Given the description of an element on the screen output the (x, y) to click on. 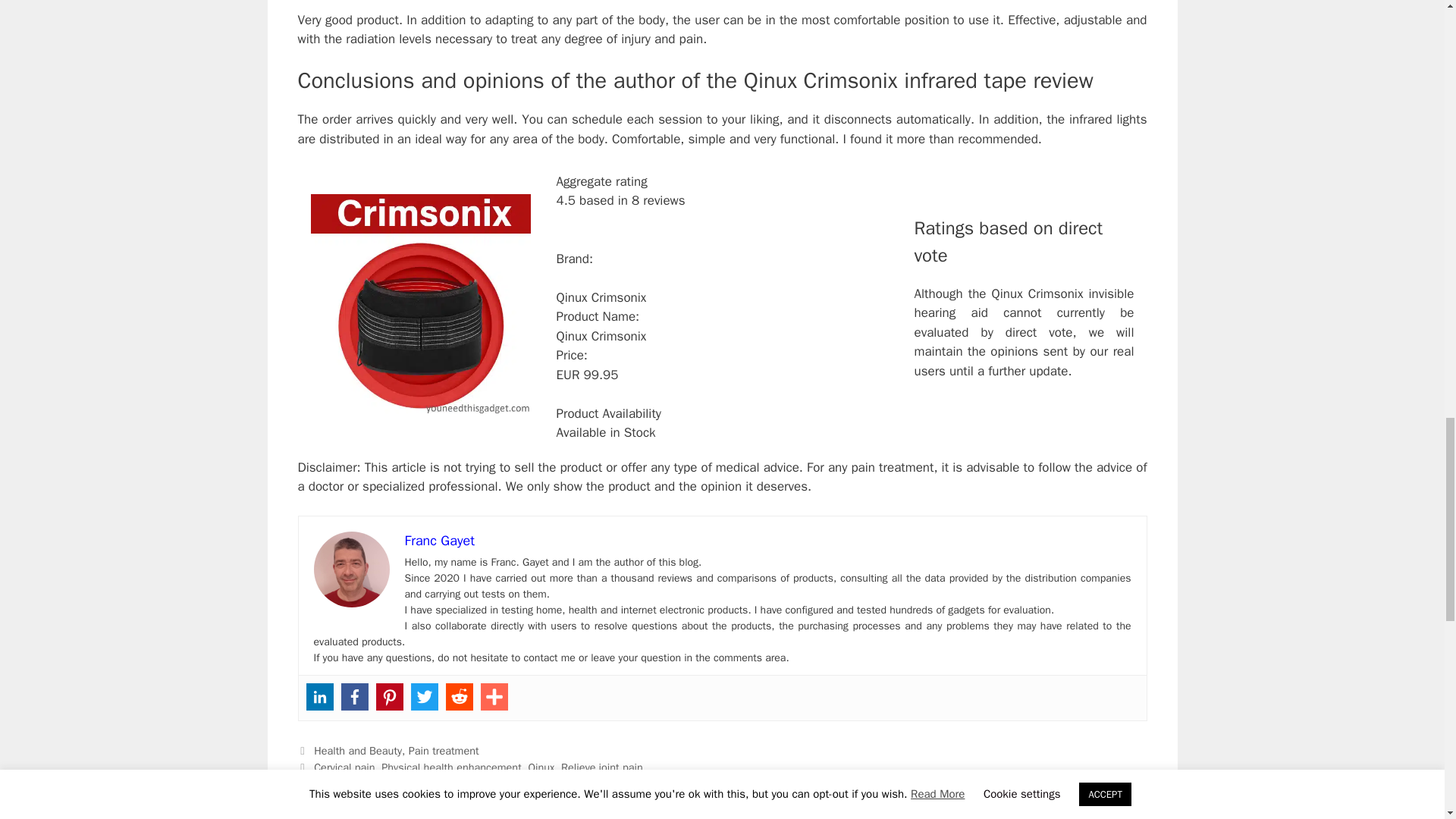
Addthis (494, 696)
Reddit (459, 696)
Linkedin (319, 696)
Facebook (354, 696)
Pinterest (389, 696)
Twitter (424, 696)
